Given the description of an element on the screen output the (x, y) to click on. 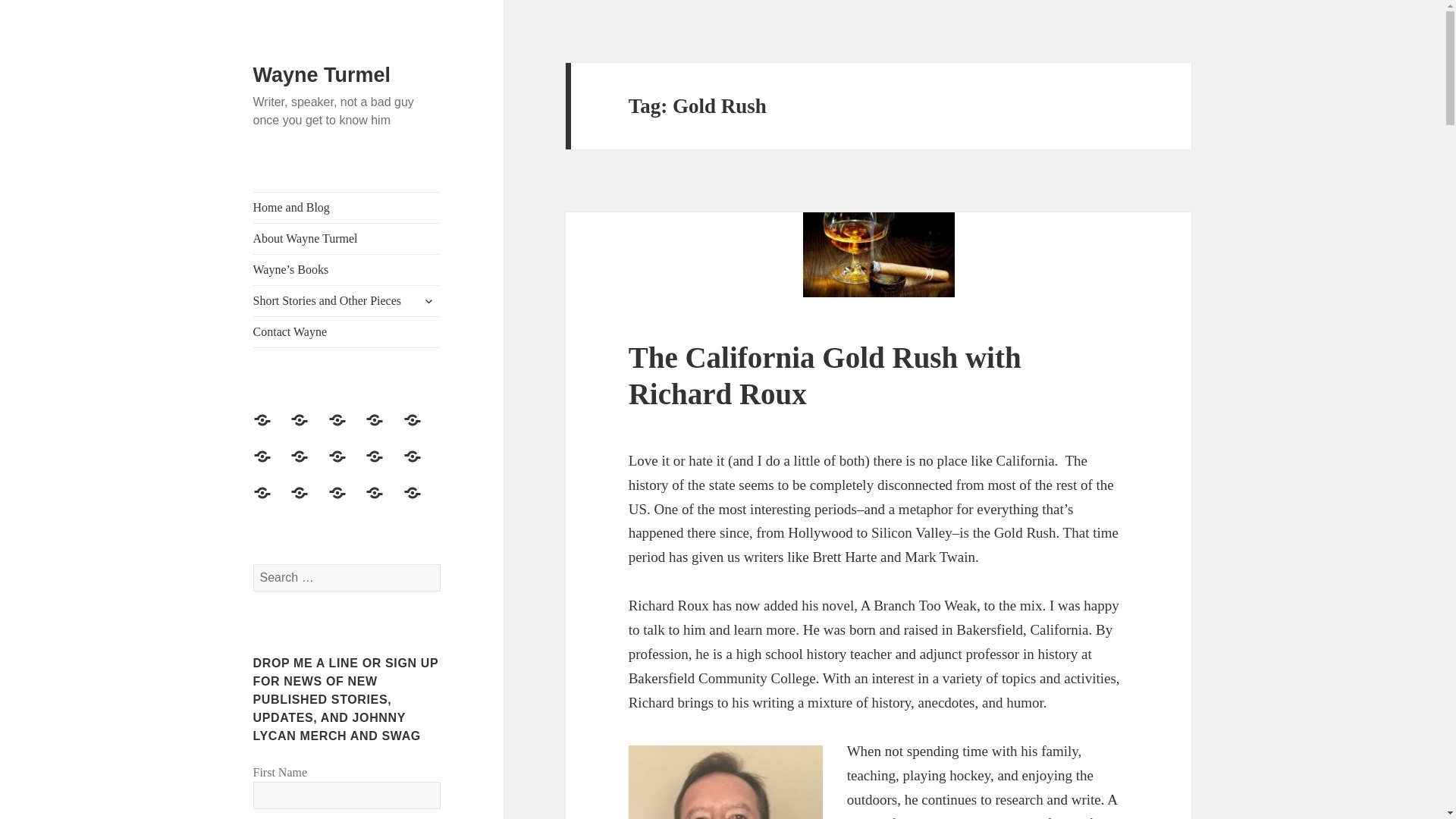
Contact Wayne (347, 331)
Wayne Turmel (322, 74)
Sponging- an award winning Flash Story only for subscribers (421, 465)
Short Story: The Towel (383, 502)
Contact Wayne (347, 429)
Short Story: The Clairtangentist (271, 465)
Short Stories and Other Pieces (347, 300)
Home and Blog (347, 207)
Flash Fiction- Stuffed Pikachus (271, 502)
A Simple Purse (421, 429)
expand child menu (428, 300)
Short Story: The Cutman (347, 502)
About Wayne Turmel (271, 429)
